Given the description of an element on the screen output the (x, y) to click on. 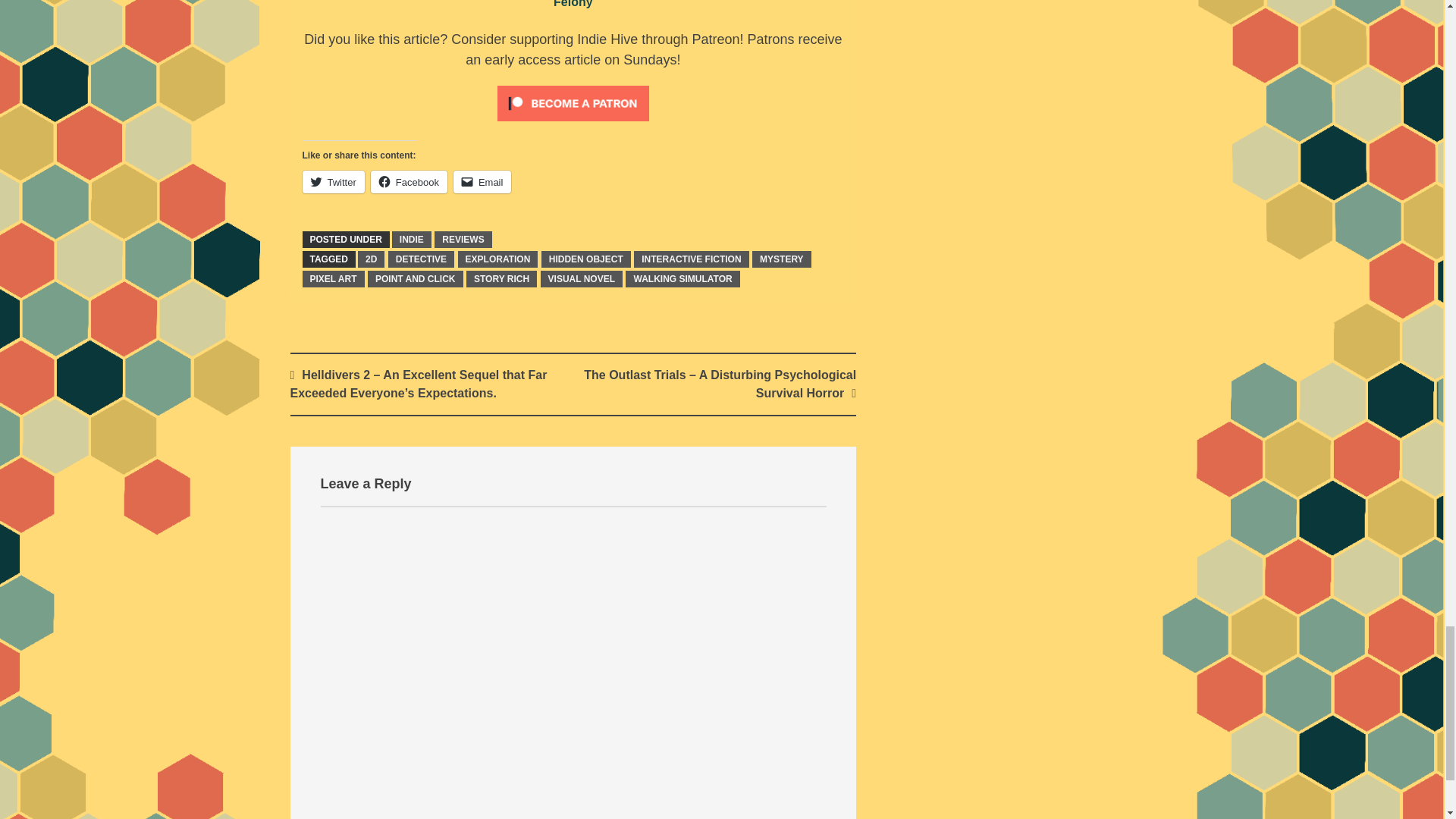
Twitter (332, 181)
Email (482, 181)
Click to share on Facebook (408, 181)
Facebook (408, 181)
Click to email a link to a friend (482, 181)
Playing Sci-fi Detective in 2000:1: A Space Felony (691, 4)
Click to share on Twitter (332, 181)
